Given the description of an element on the screen output the (x, y) to click on. 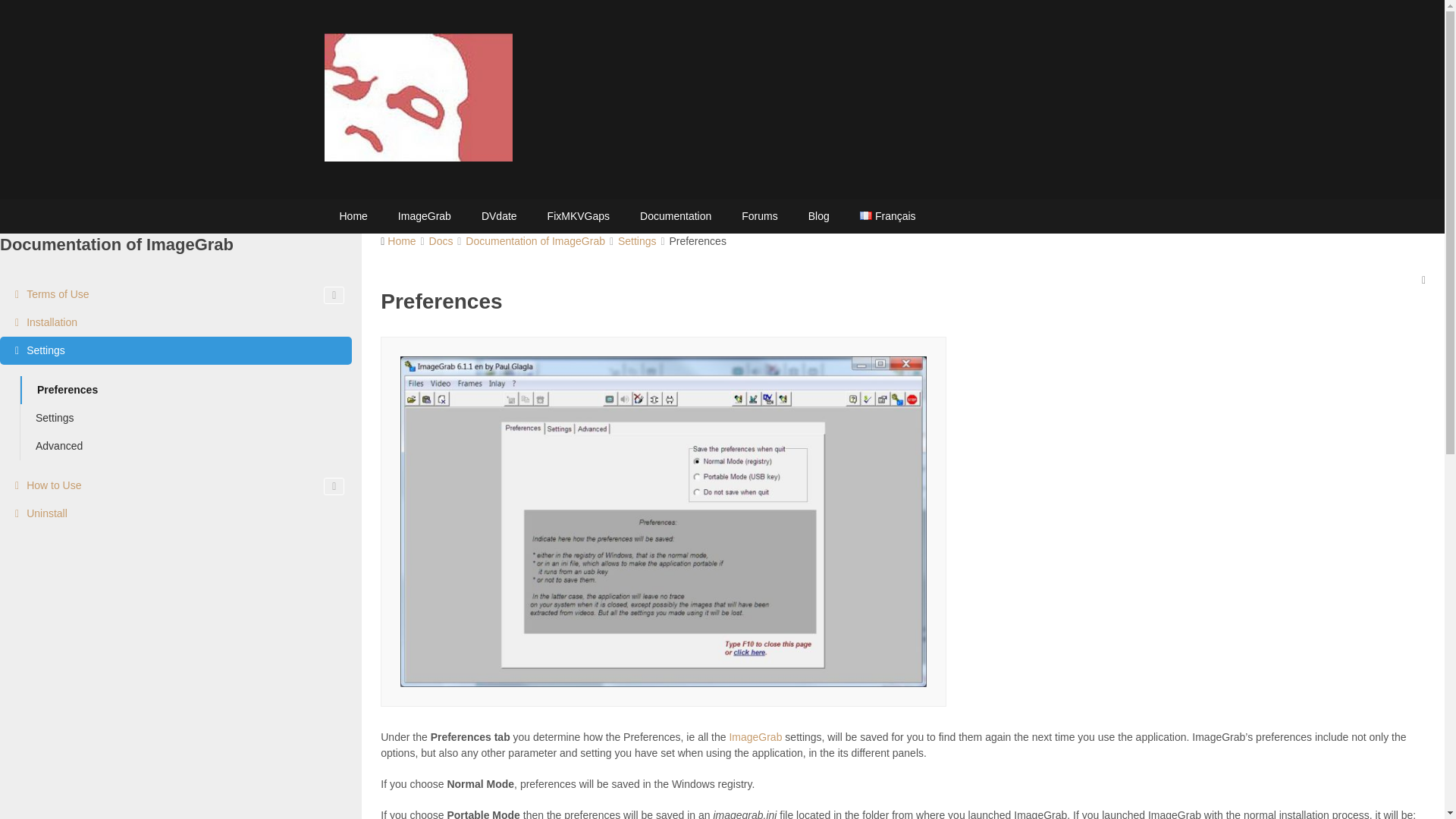
ImageGrab (755, 736)
Preferences (186, 389)
Home (353, 216)
Advanced (186, 446)
Settings (636, 241)
ImageGrab (423, 216)
Uninstall (176, 513)
FixMKVGaps (578, 216)
Terms of Use (176, 294)
Settings (186, 418)
Home (400, 241)
How to Use (176, 485)
DVdate (498, 216)
Documentation (675, 216)
Installation (176, 322)
